Given the description of an element on the screen output the (x, y) to click on. 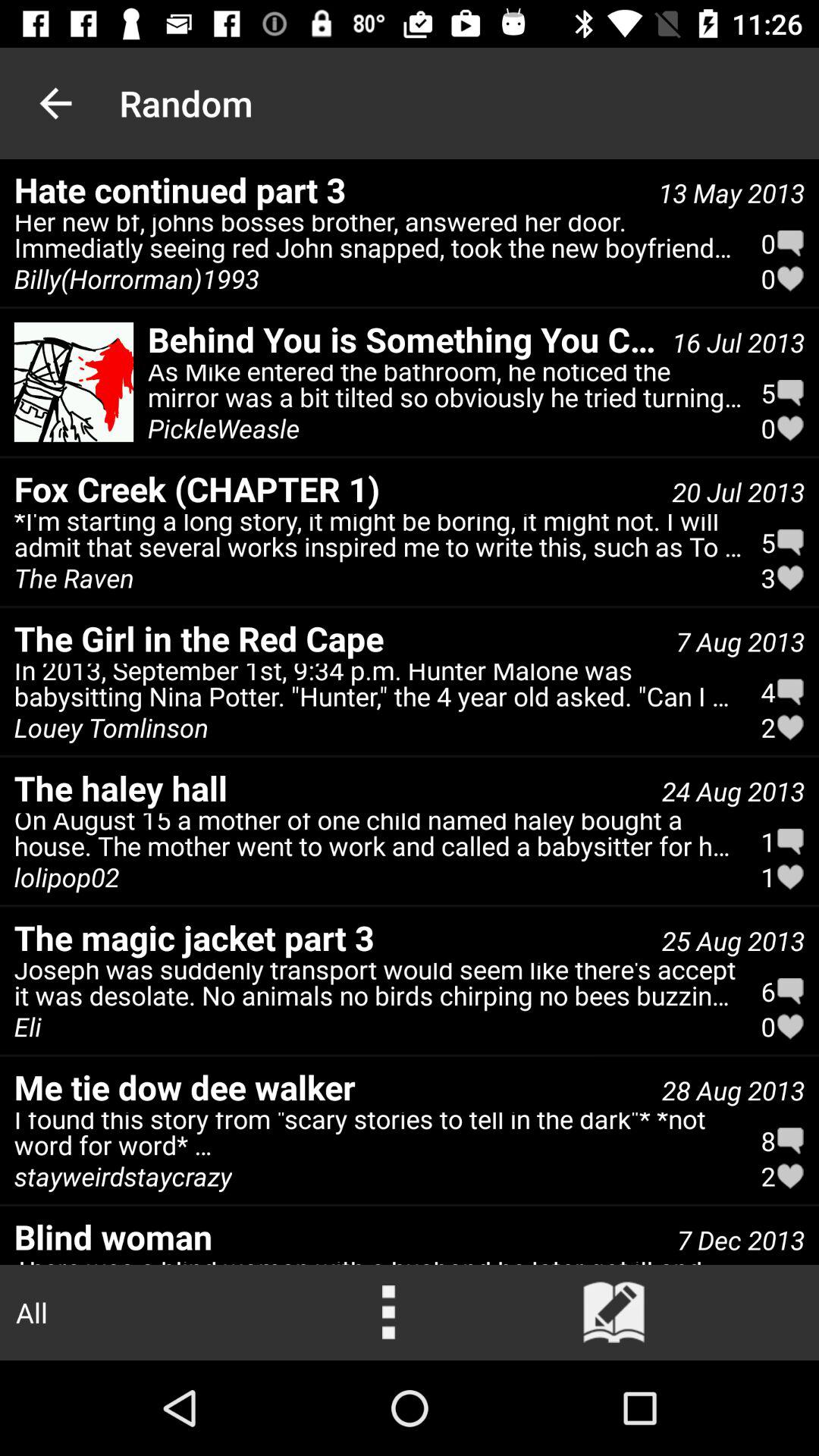
choose icon above the the magic jacket item (66, 876)
